Given the description of an element on the screen output the (x, y) to click on. 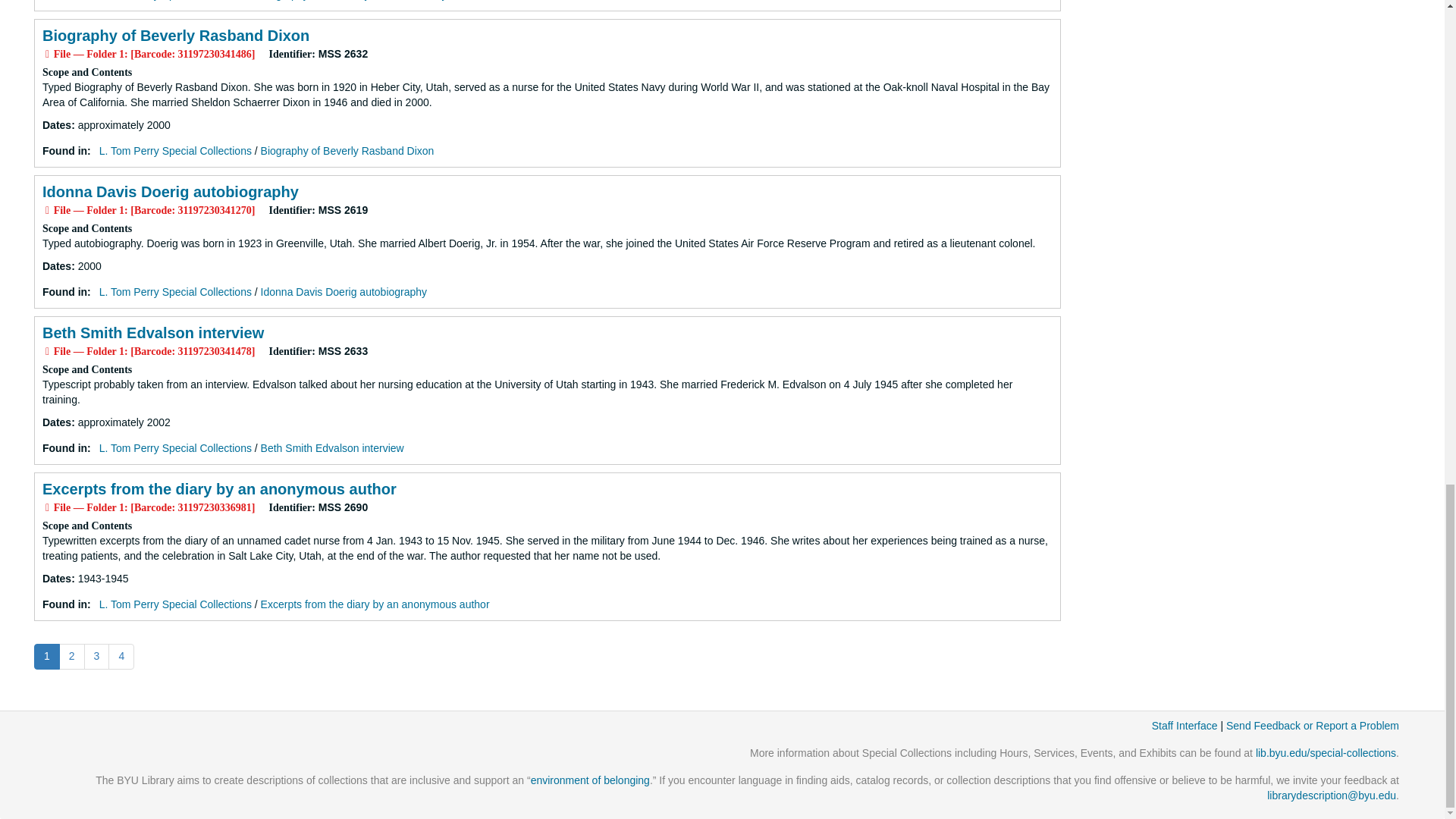
Beth Smith Edvalson interview (152, 332)
translation missing: en.dates (56, 265)
Idonna Davis Doerig autobiography (343, 291)
Idonna Davis Doerig autobiography (170, 191)
L. Tom Perry Special Collections (175, 150)
translation missing: en.dates (56, 124)
translation missing: en.dates (56, 578)
L. Tom Perry Special Collections (175, 291)
